Given the description of an element on the screen output the (x, y) to click on. 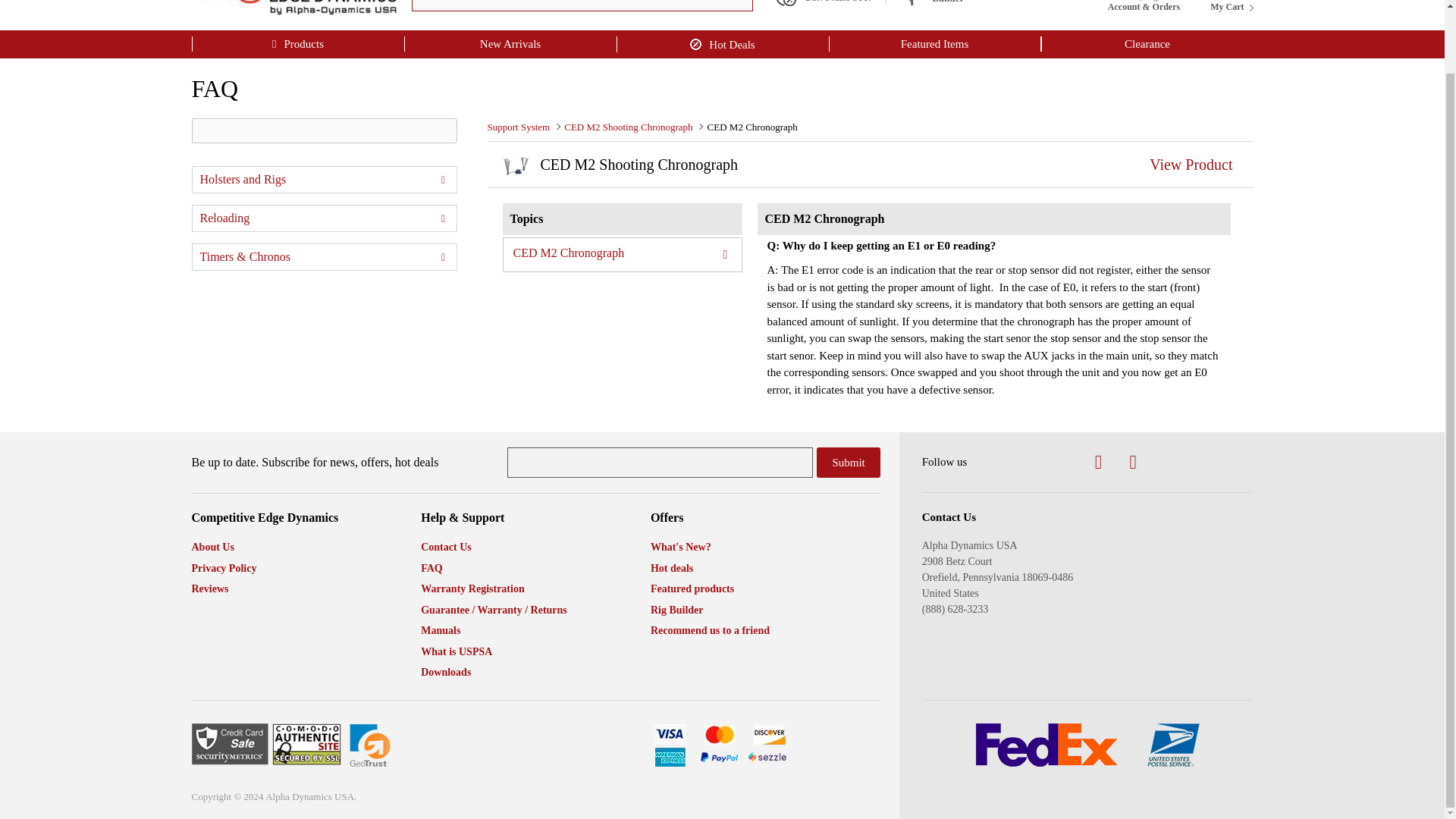
Products (1230, 6)
